Given the description of an element on the screen output the (x, y) to click on. 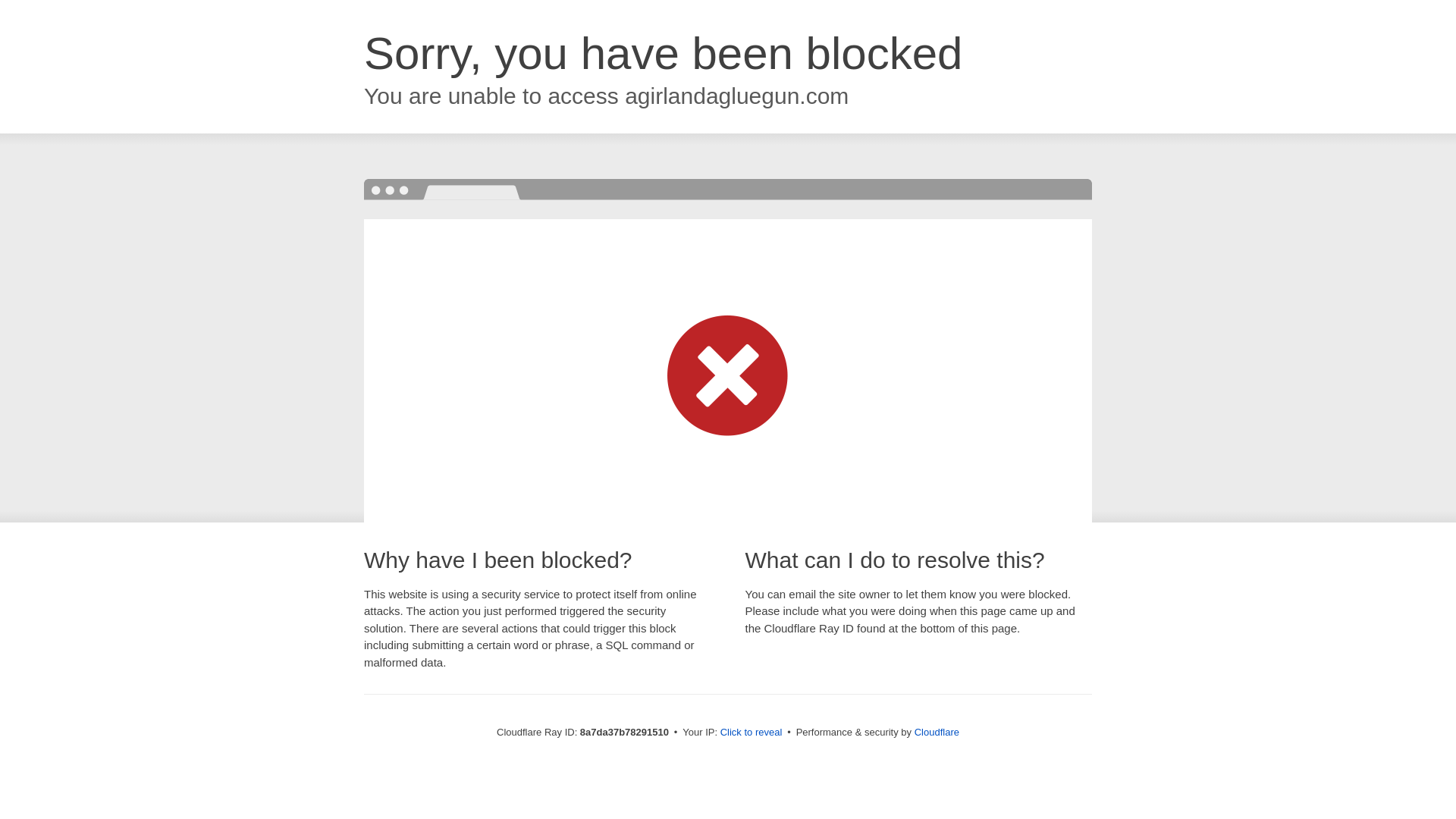
Cloudflare (936, 731)
Click to reveal (751, 732)
